Given the description of an element on the screen output the (x, y) to click on. 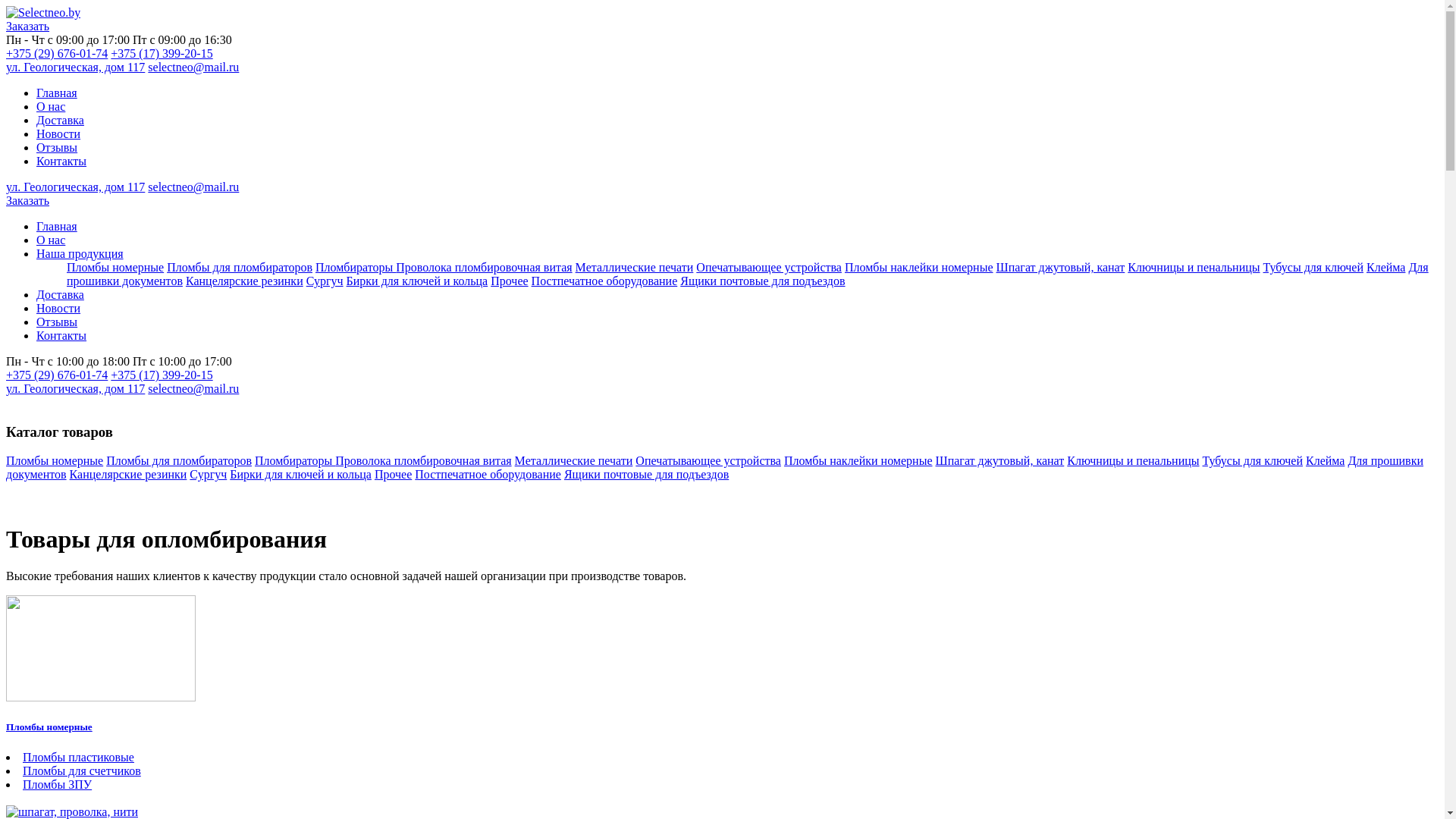
+375 (29) 676-01-74 Element type: text (56, 53)
selectneo@mail.ru Element type: text (192, 388)
+375 (29) 676-01-74 Element type: text (56, 374)
selectneo@mail.ru Element type: text (192, 186)
+375 (17) 399-20-15 Element type: text (161, 53)
+375 (17) 399-20-15 Element type: text (161, 374)
selectneo@mail.ru Element type: text (192, 66)
